Given the description of an element on the screen output the (x, y) to click on. 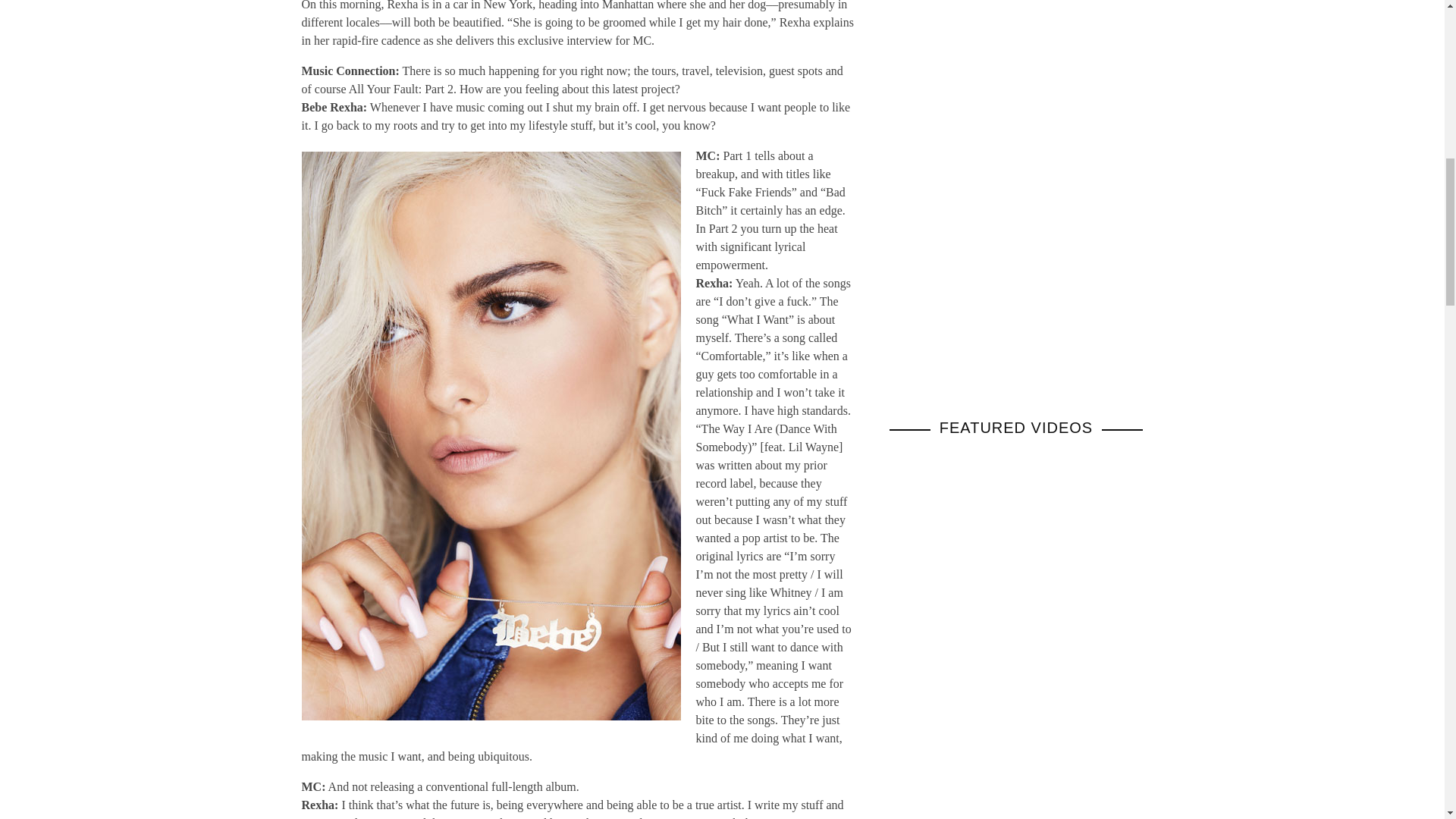
YouTube video player (1015, 775)
YouTube video player (1015, 575)
